Given the description of an element on the screen output the (x, y) to click on. 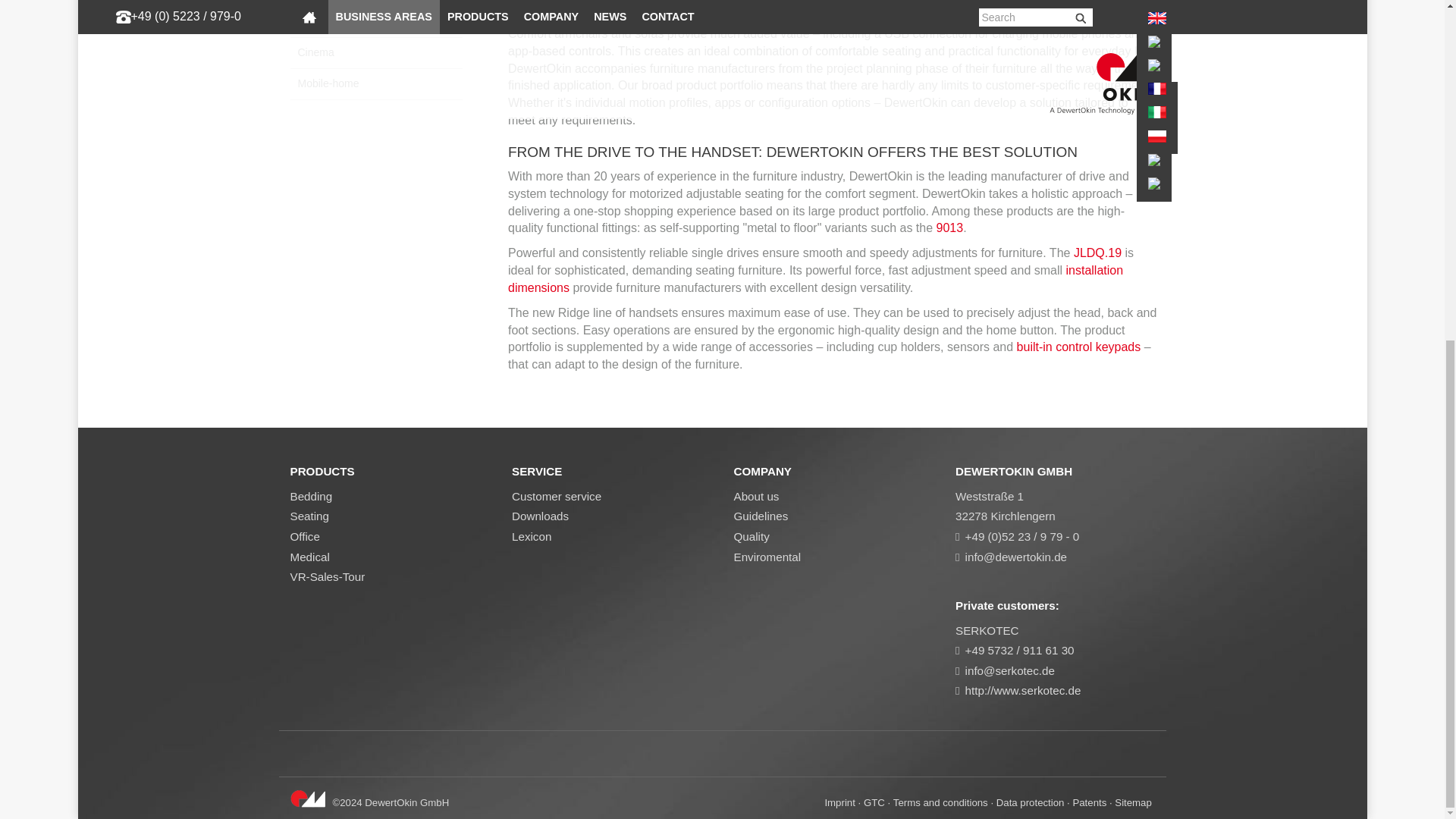
Imprint (839, 802)
Data protection (1029, 802)
Terms and conditions (940, 802)
GTC (874, 802)
Patents (1088, 802)
